Given the description of an element on the screen output the (x, y) to click on. 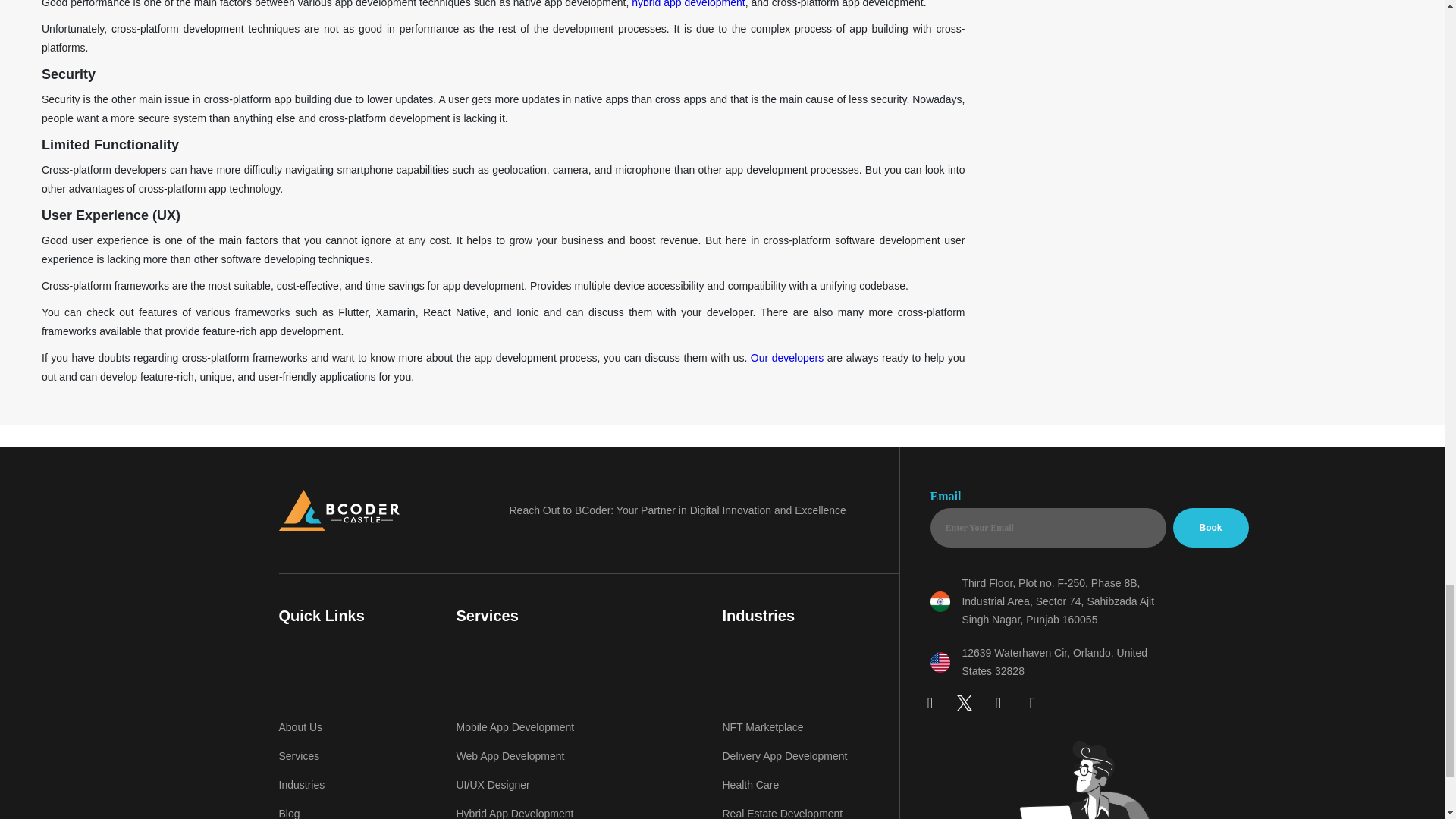
Our developers (787, 357)
hybrid app development (687, 4)
Book (1209, 527)
